Given the description of an element on the screen output the (x, y) to click on. 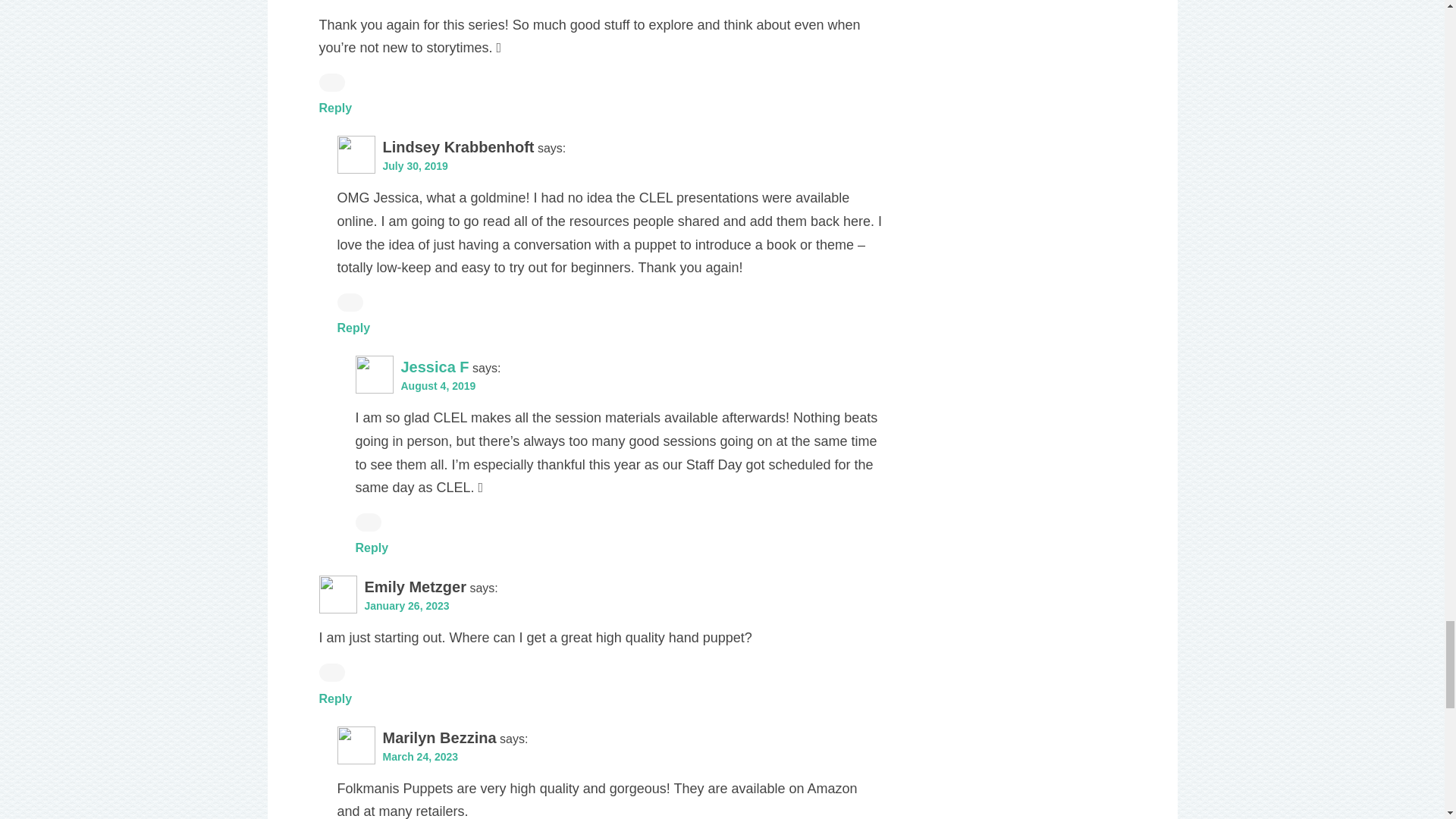
Reply (371, 547)
Reply (335, 107)
Jessica F (434, 366)
August 4, 2019 (438, 386)
January 26, 2023 (406, 605)
Reply (352, 327)
July 30, 2019 (413, 165)
